Given the description of an element on the screen output the (x, y) to click on. 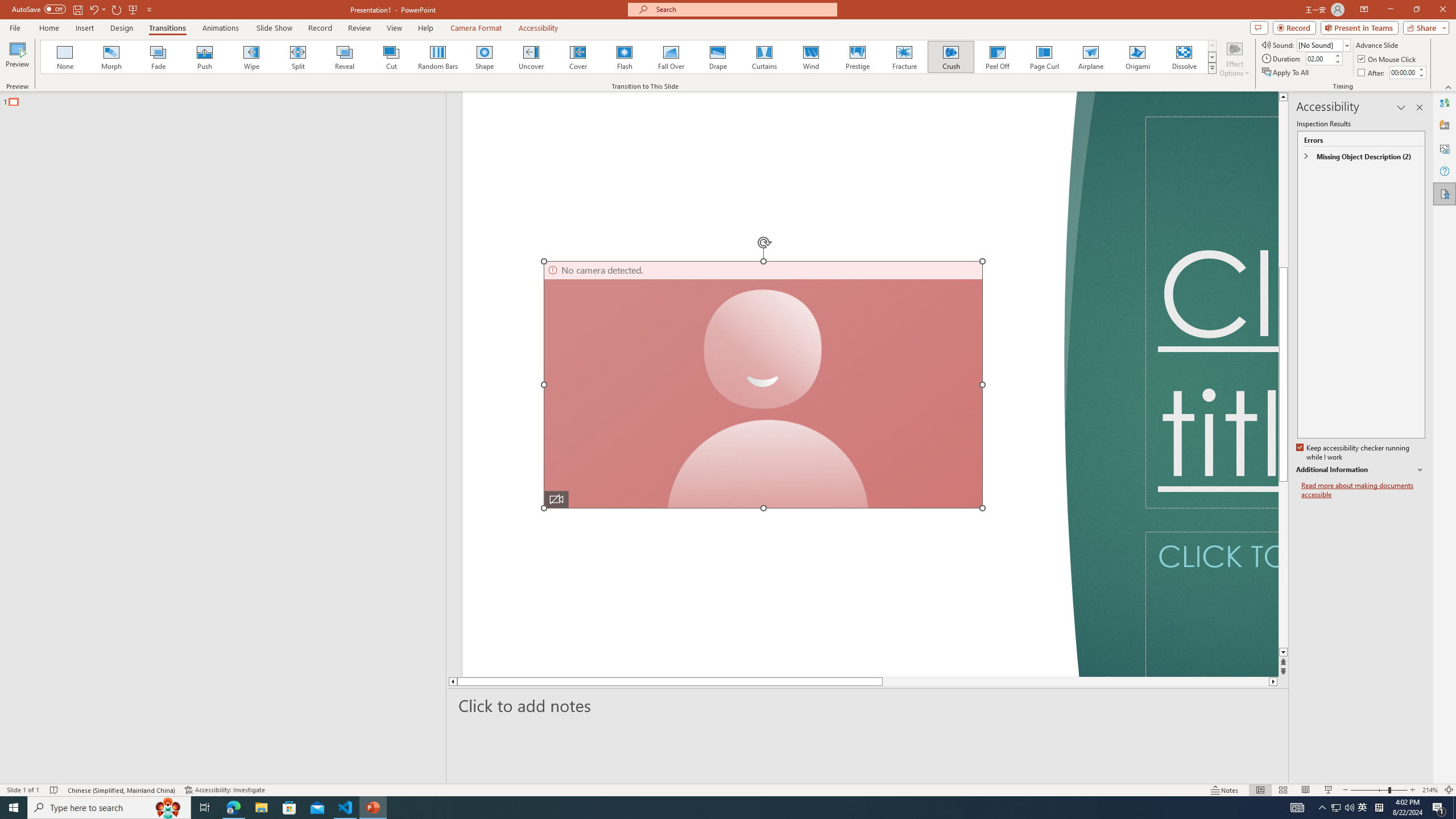
Drape (717, 56)
Uncover (531, 56)
Decorative Locked (779, 383)
Effect Options (1234, 58)
On Mouse Click (1387, 58)
Page Curl (1043, 56)
Shape (484, 56)
Fracture (903, 56)
